Given the description of an element on the screen output the (x, y) to click on. 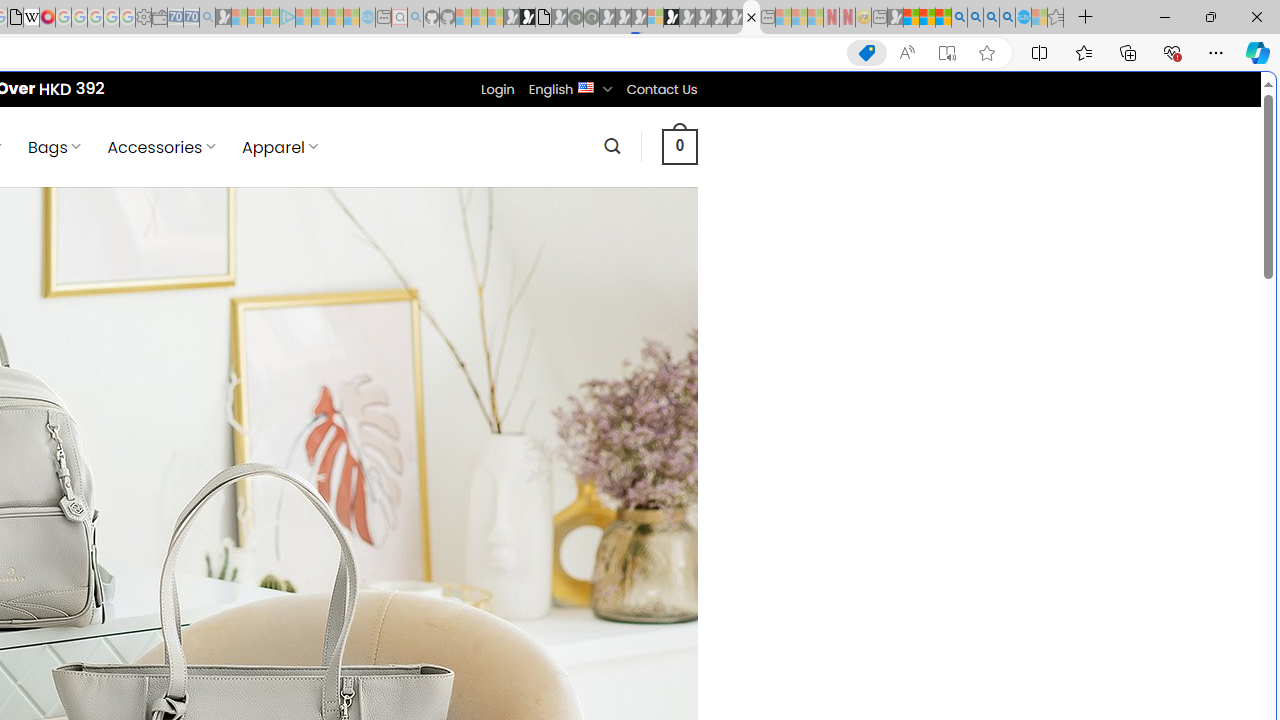
Microsoft Start Gaming - Sleeping (223, 17)
Frequently visited (418, 265)
Contact Us (661, 89)
Settings - Sleeping (143, 17)
2009 Bing officially replaced Live Search on June 3 - Search (975, 17)
Bing Real Estate - Home sales and rental listings - Sleeping (207, 17)
Cheap Car Rentals - Save70.com - Sleeping (191, 17)
